Given the description of an element on the screen output the (x, y) to click on. 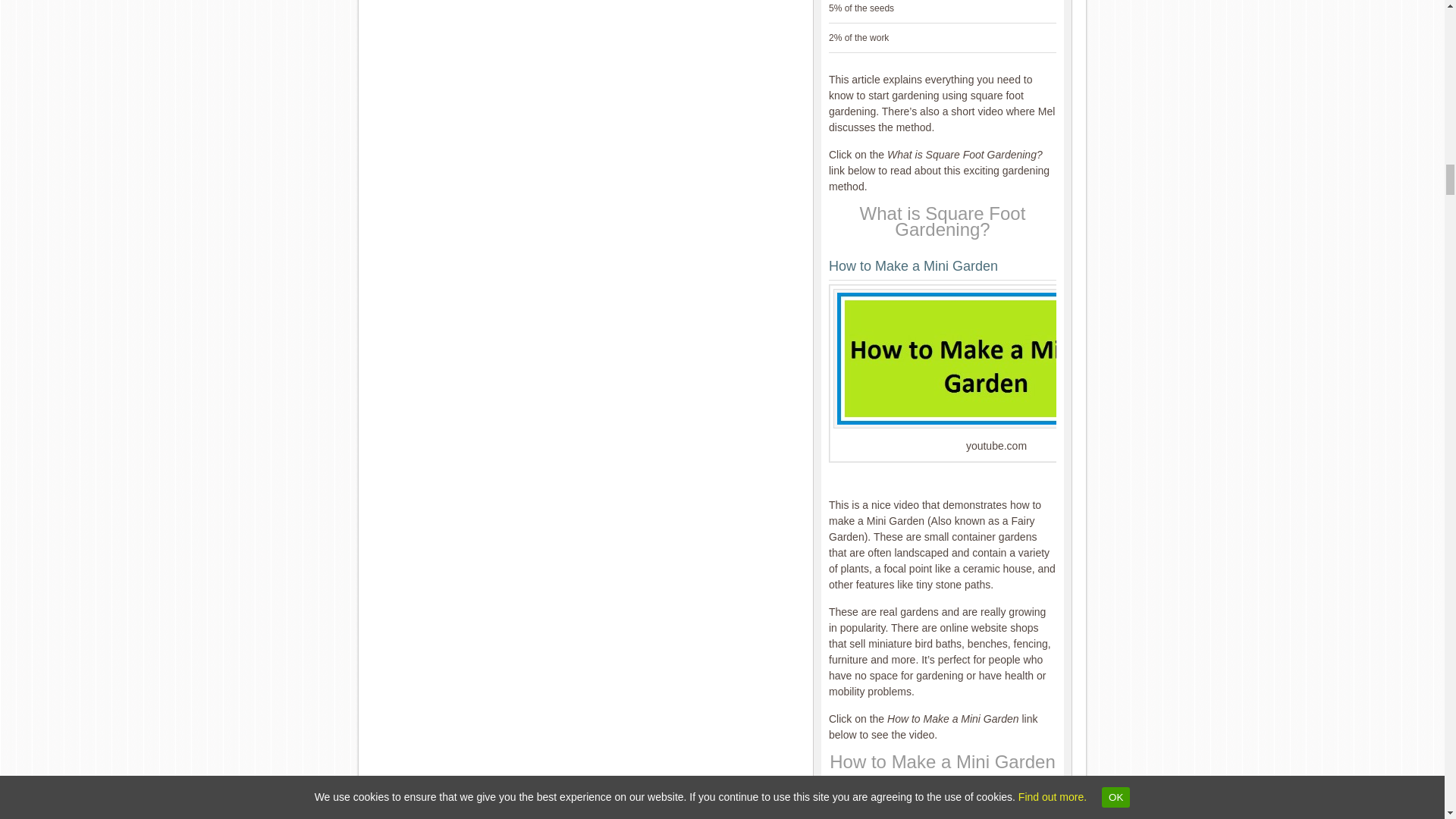
What is Square Foot Gardening? (943, 221)
How to Make a Mini Garden (912, 265)
How to Harvest Lettuce in a Container Garden (911, 805)
How to Make a Mini Garden (941, 761)
